Given the description of an element on the screen output the (x, y) to click on. 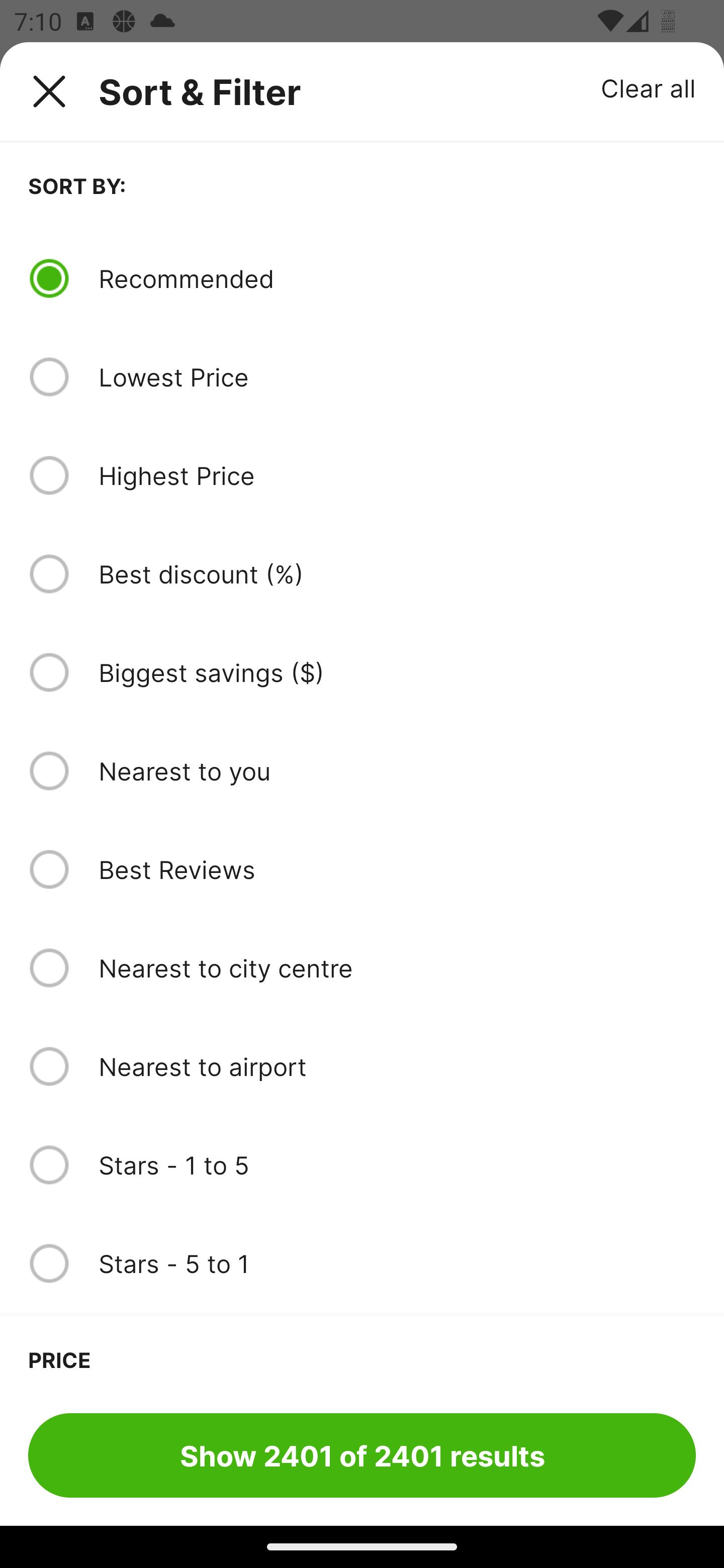
Clear all (648, 87)
Recommended  (396, 278)
Lowest Price (396, 377)
Highest Price (396, 474)
Best discount (%) (396, 573)
Biggest savings ($) (396, 672)
Nearest to you (396, 770)
Best Reviews (396, 869)
Nearest to city centre (396, 968)
Nearest to airport (396, 1065)
Stars - 1 to 5 (396, 1164)
Stars - 5 to 1 (396, 1263)
Show 2401 of 2401 results (361, 1454)
